Given the description of an element on the screen output the (x, y) to click on. 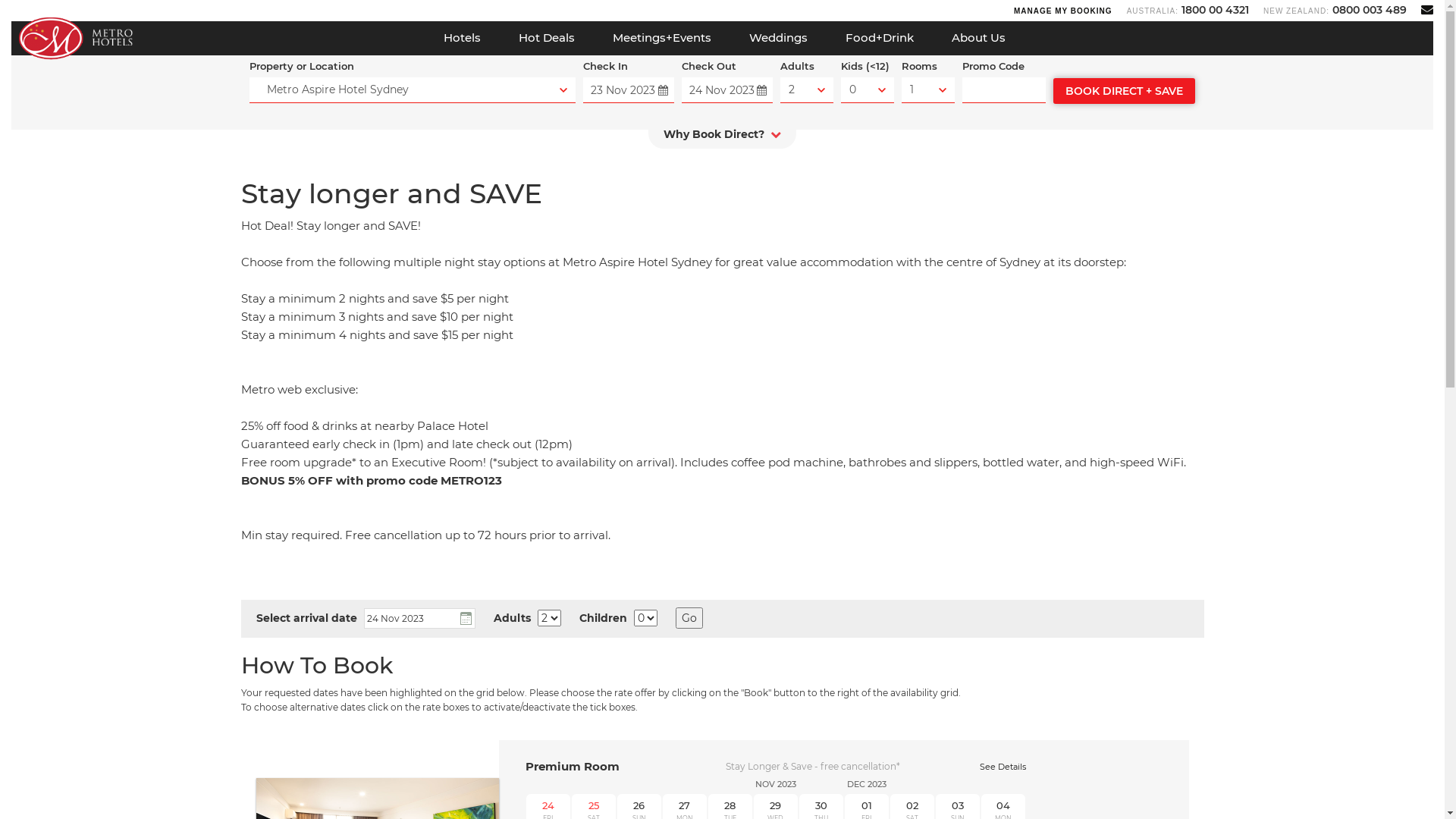
Go Element type: text (688, 617)
Hot Deals Element type: text (545, 38)
Meetings+Events Element type: text (661, 38)
Food+Drink Element type: text (879, 38)
MANAGE MY BOOKING Element type: text (1062, 10)
Contact Us Element type: hover (1427, 9)
See Details Element type: text (1002, 766)
About Us Element type: text (978, 38)
Why Book Direct? Element type: text (722, 137)
BOOK DIRECT + SAVE Element type: text (1124, 90)
Hotels Element type: text (461, 38)
Weddings Element type: text (777, 38)
